Given the description of an element on the screen output the (x, y) to click on. 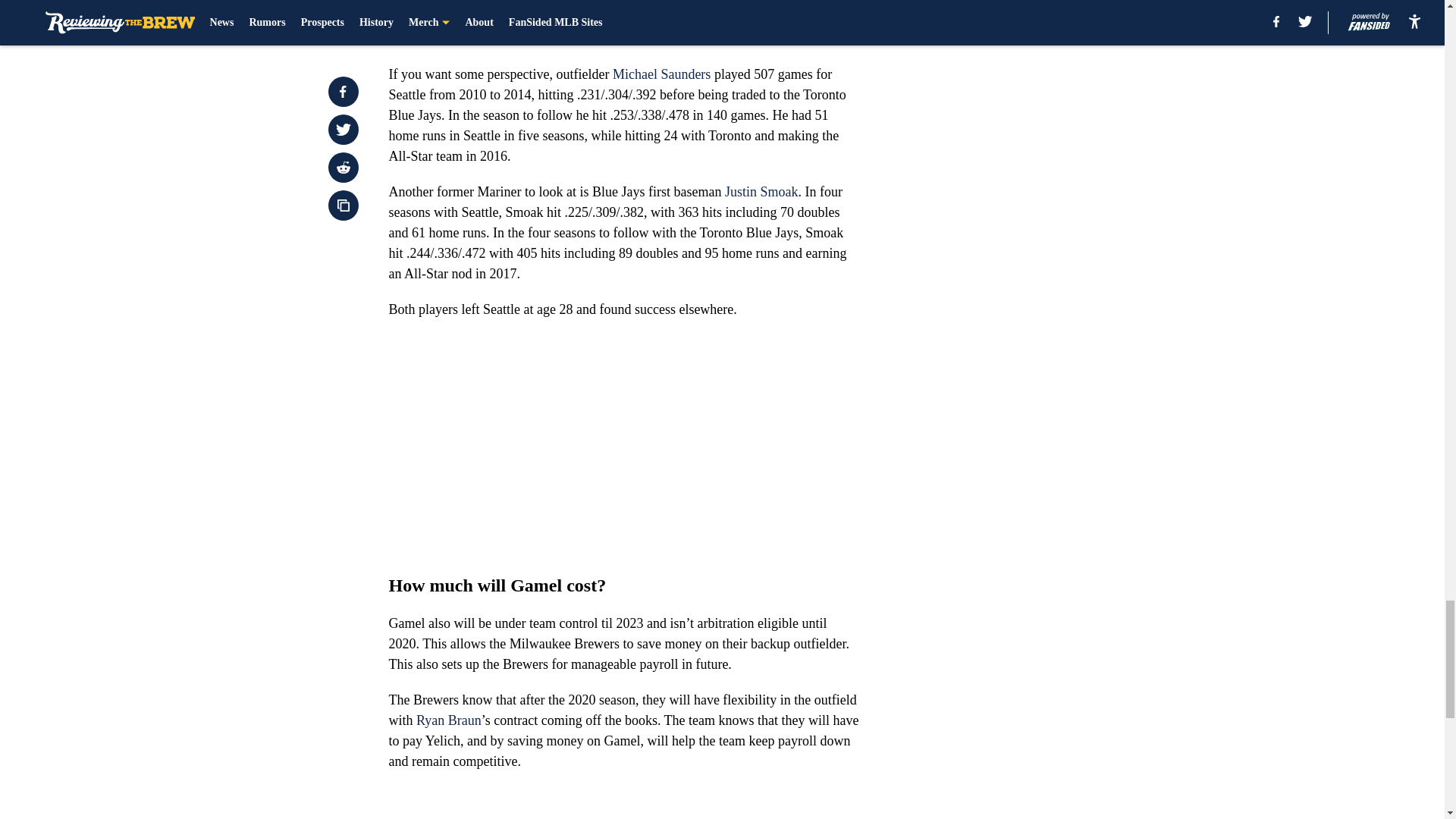
Justin Smoak (761, 191)
Michael Saunders (661, 73)
Ryan Braun (448, 720)
